Given the description of an element on the screen output the (x, y) to click on. 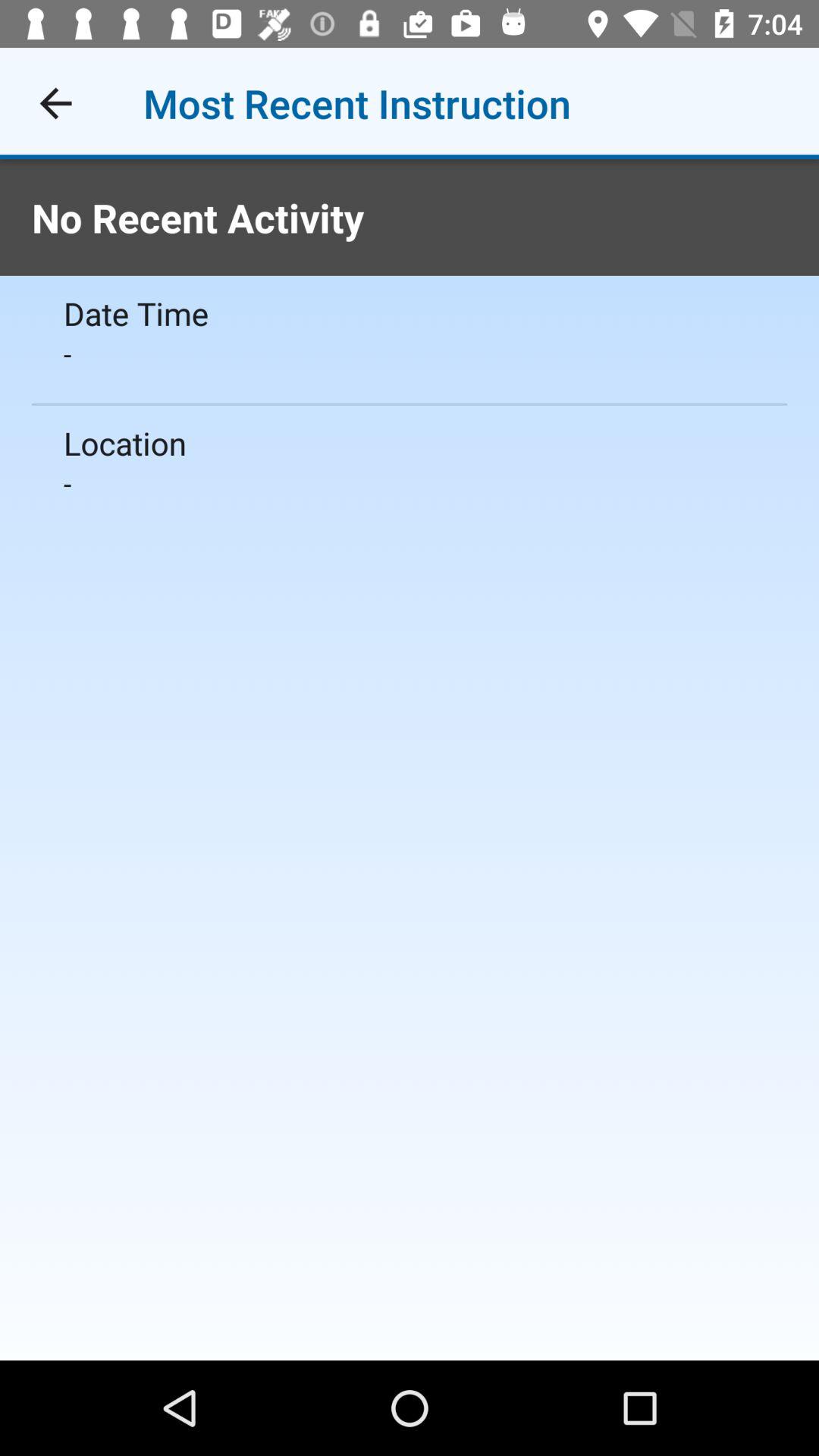
select date time item (409, 312)
